Given the description of an element on the screen output the (x, y) to click on. 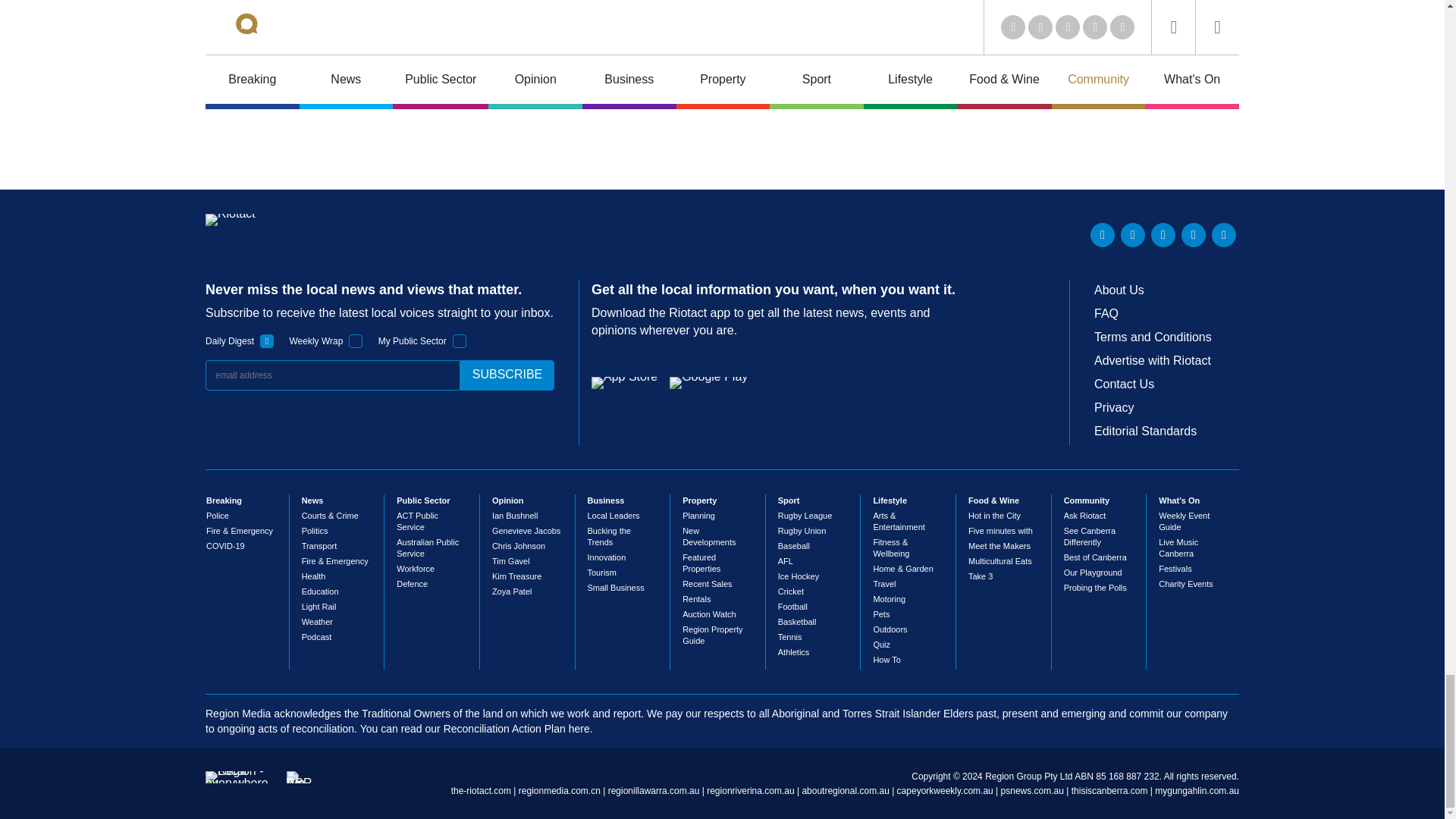
Youtube (1162, 234)
LinkedIn (1102, 234)
1 (458, 341)
Twitter (1132, 234)
Facebook (1192, 234)
1 (355, 341)
App Store (624, 382)
1 (266, 341)
Instagram (1223, 234)
subscribe (507, 375)
